Given the description of an element on the screen output the (x, y) to click on. 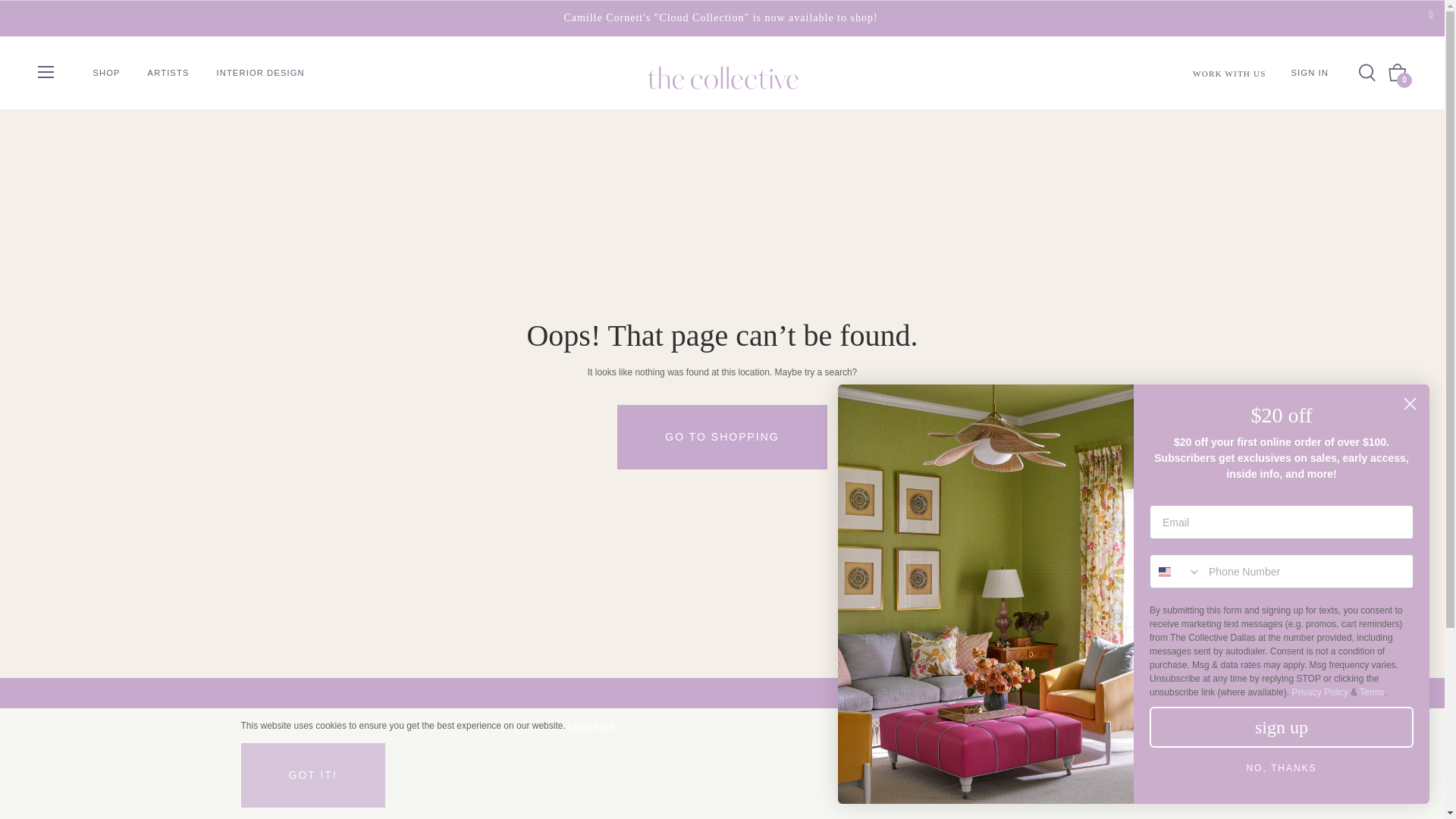
United States (1164, 571)
ARTISTS (168, 72)
Shopping Cart (1397, 72)
